Given the description of an element on the screen output the (x, y) to click on. 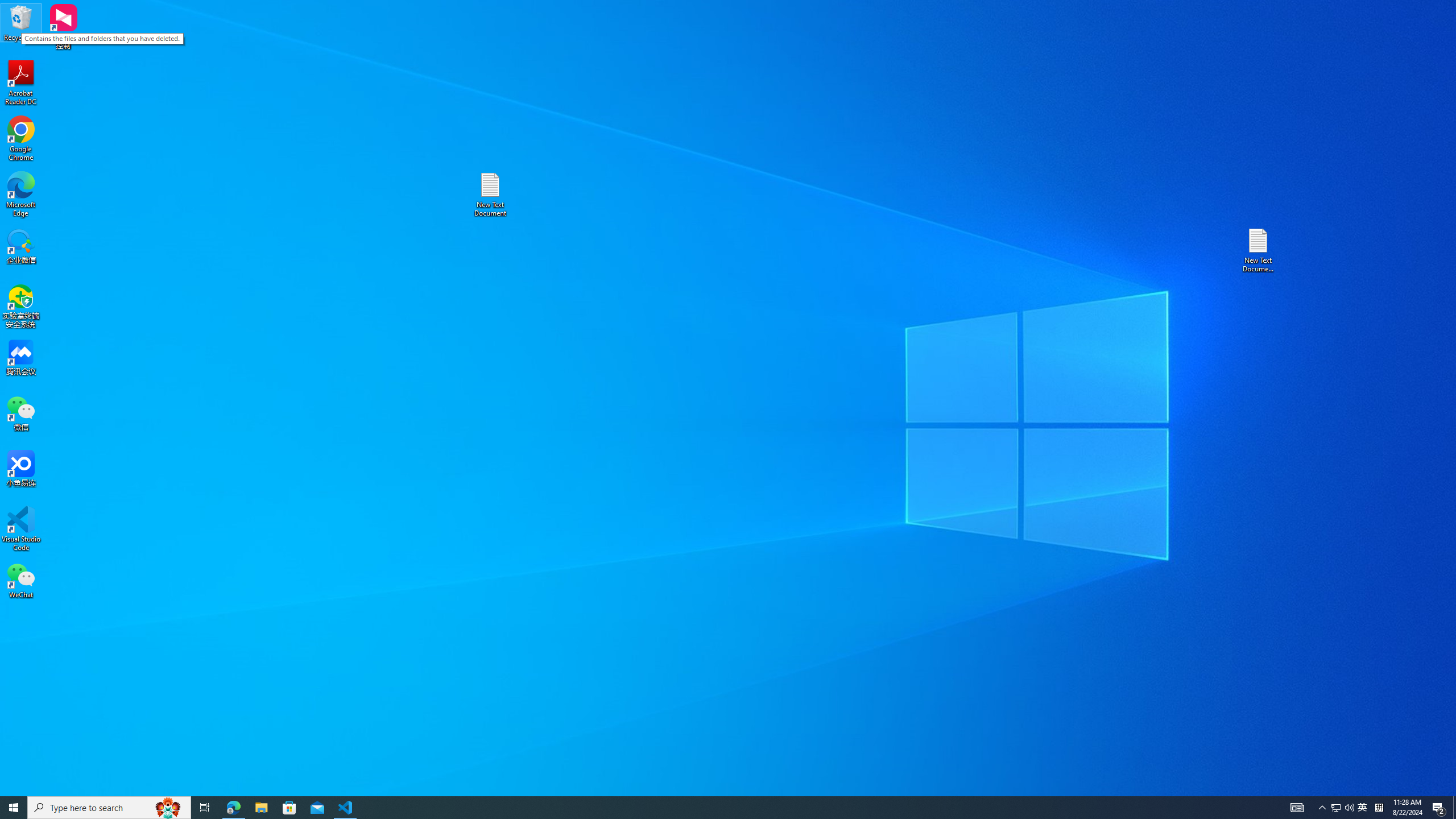
Running applications (707, 807)
File Explorer (261, 807)
Google Chrome (21, 138)
Recycle Bin (1362, 807)
AutomationID: 4105 (21, 22)
Show desktop (1297, 807)
Visual Studio Code - 1 running window (1454, 807)
New Text Document (345, 807)
Task View (489, 194)
